Given the description of an element on the screen output the (x, y) to click on. 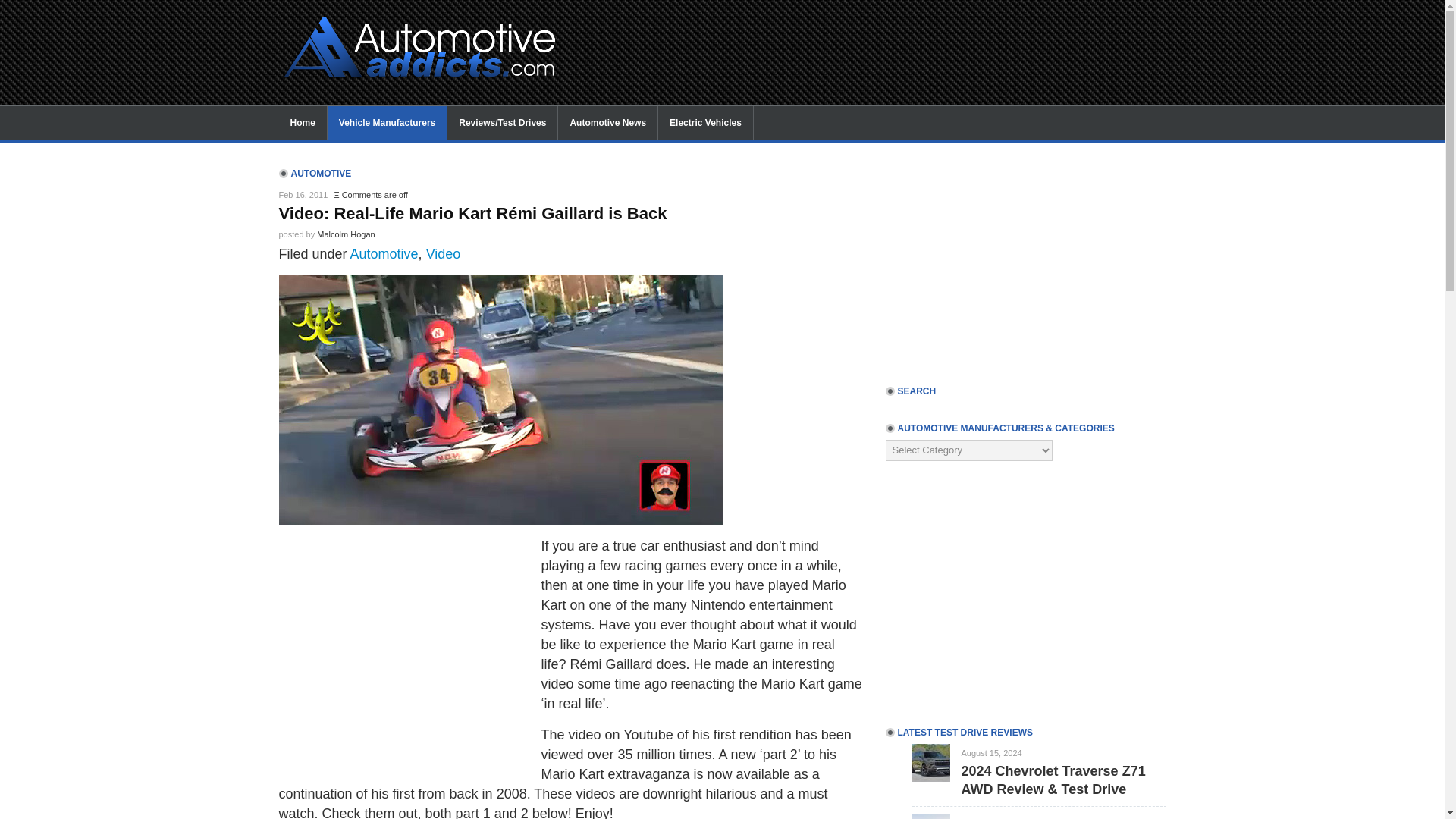
Vehicle Manufacturers (386, 122)
Advertisement (858, 33)
remi-kart-2-mario-kart (500, 399)
Advertisement (406, 649)
Posts by Malcolm Hogan (345, 234)
Home (302, 122)
